Given the description of an element on the screen output the (x, y) to click on. 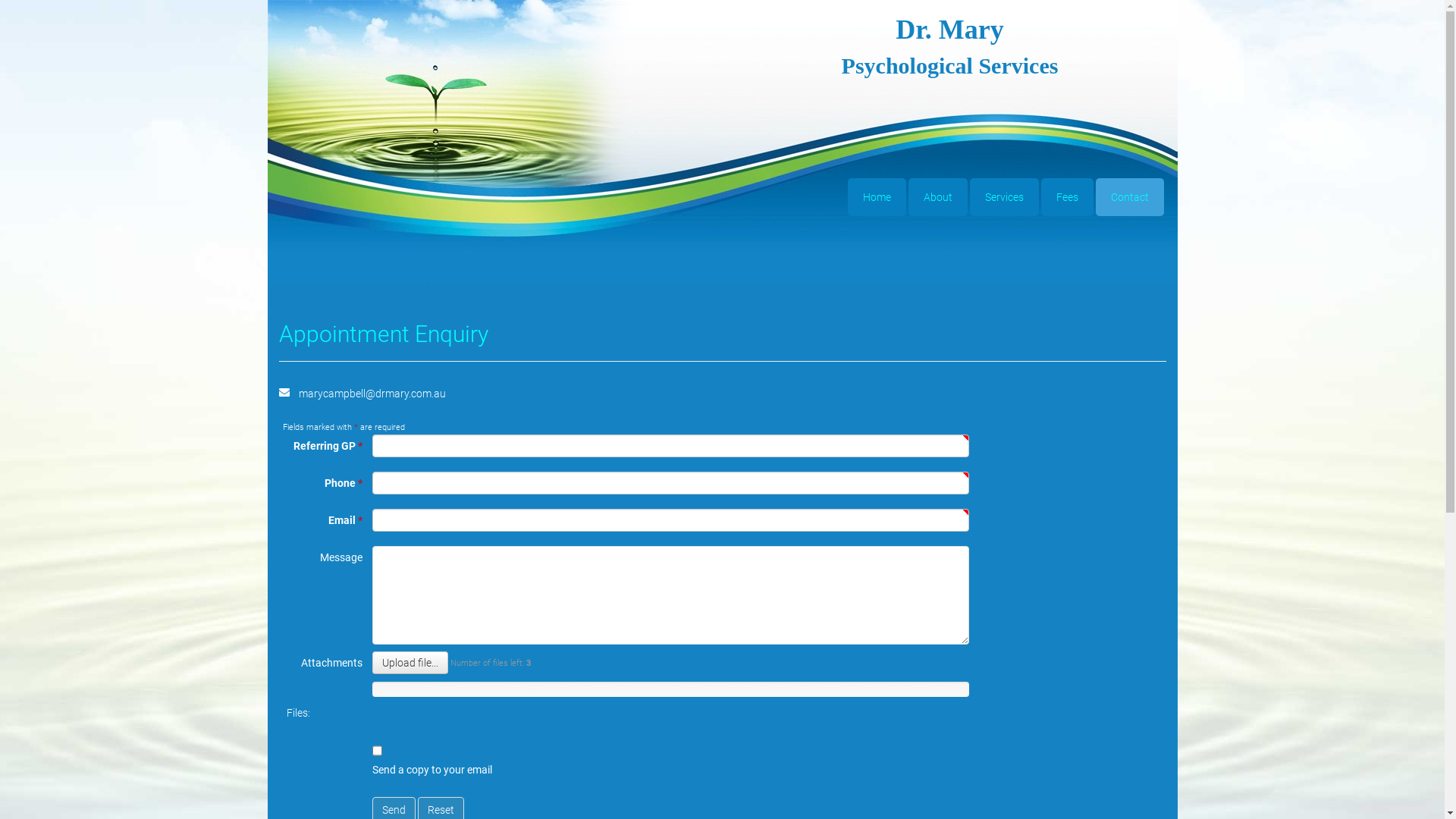
Fees Element type: text (1066, 197)
Contact Element type: text (1129, 197)
Services Element type: text (1003, 197)
Home Element type: text (876, 197)
Email Element type: hover (285, 391)
About Element type: text (937, 197)
